Given the description of an element on the screen output the (x, y) to click on. 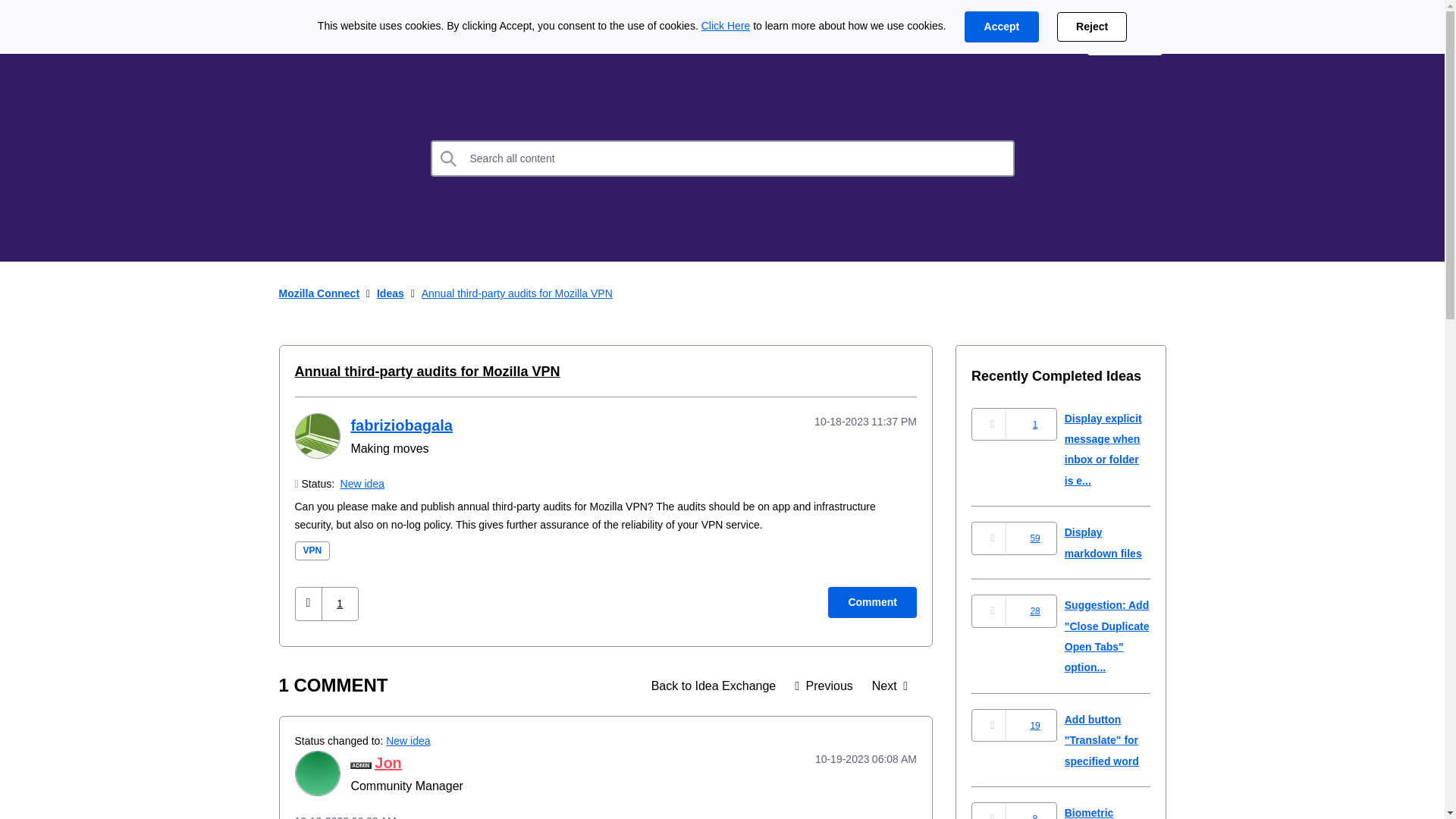
Posted on (845, 759)
Mozilla Connect (319, 293)
New idea (407, 740)
Accept (1001, 26)
Search (448, 158)
Support (1040, 39)
Posted on (845, 421)
1 (339, 603)
Ideas (411, 39)
fabriziobagala (316, 435)
Jon (316, 773)
Search (722, 158)
New idea (362, 483)
Back to Idea Exchange (714, 685)
